Given the description of an element on the screen output the (x, y) to click on. 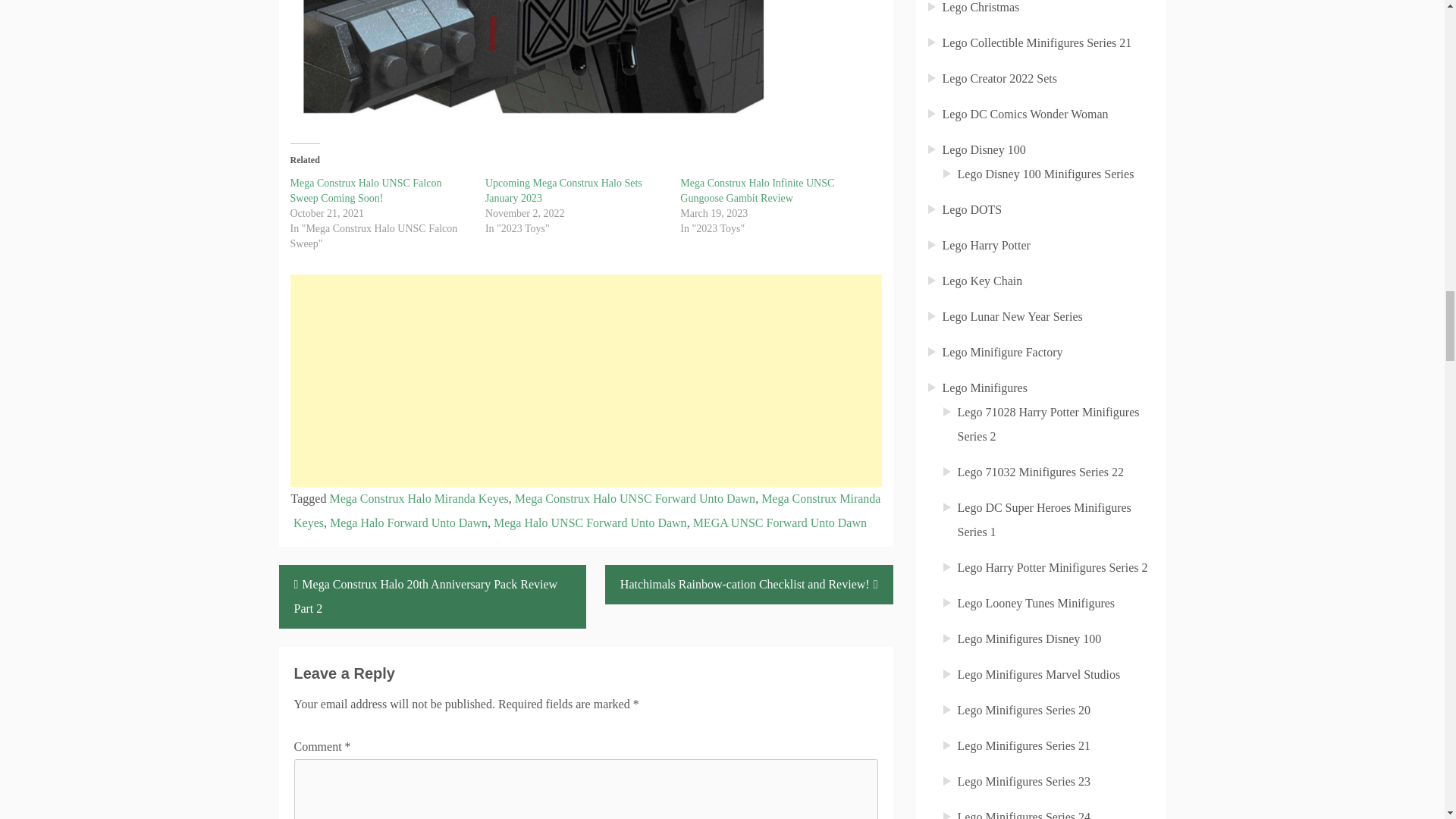
Upcoming Mega Construx Halo Sets January 2023 (563, 190)
Mega Construx Halo UNSC Falcon Sweep Coming Soon! (365, 190)
Mega Construx Halo Infinite UNSC Gungoose Gambit Review (756, 190)
